Given the description of an element on the screen output the (x, y) to click on. 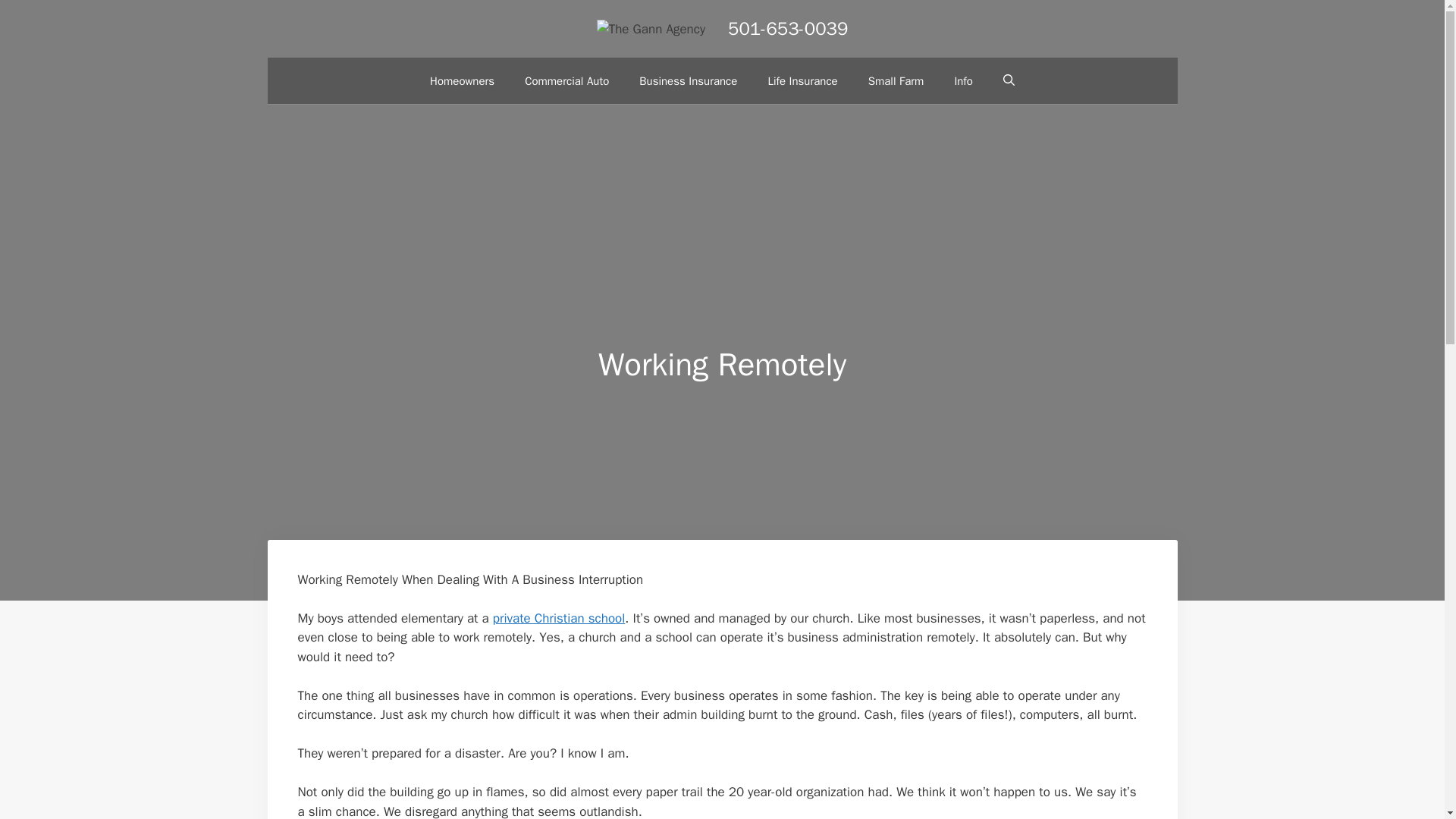
private Christian school (558, 618)
Homeowners (461, 81)
The Gann Agency (650, 29)
Life Insurance (801, 81)
The Gann Agency (650, 28)
Info (963, 81)
501-653-0039 (787, 28)
Business Insurance (688, 81)
Small Farm (896, 81)
Commercial Auto (566, 81)
